Given the description of an element on the screen output the (x, y) to click on. 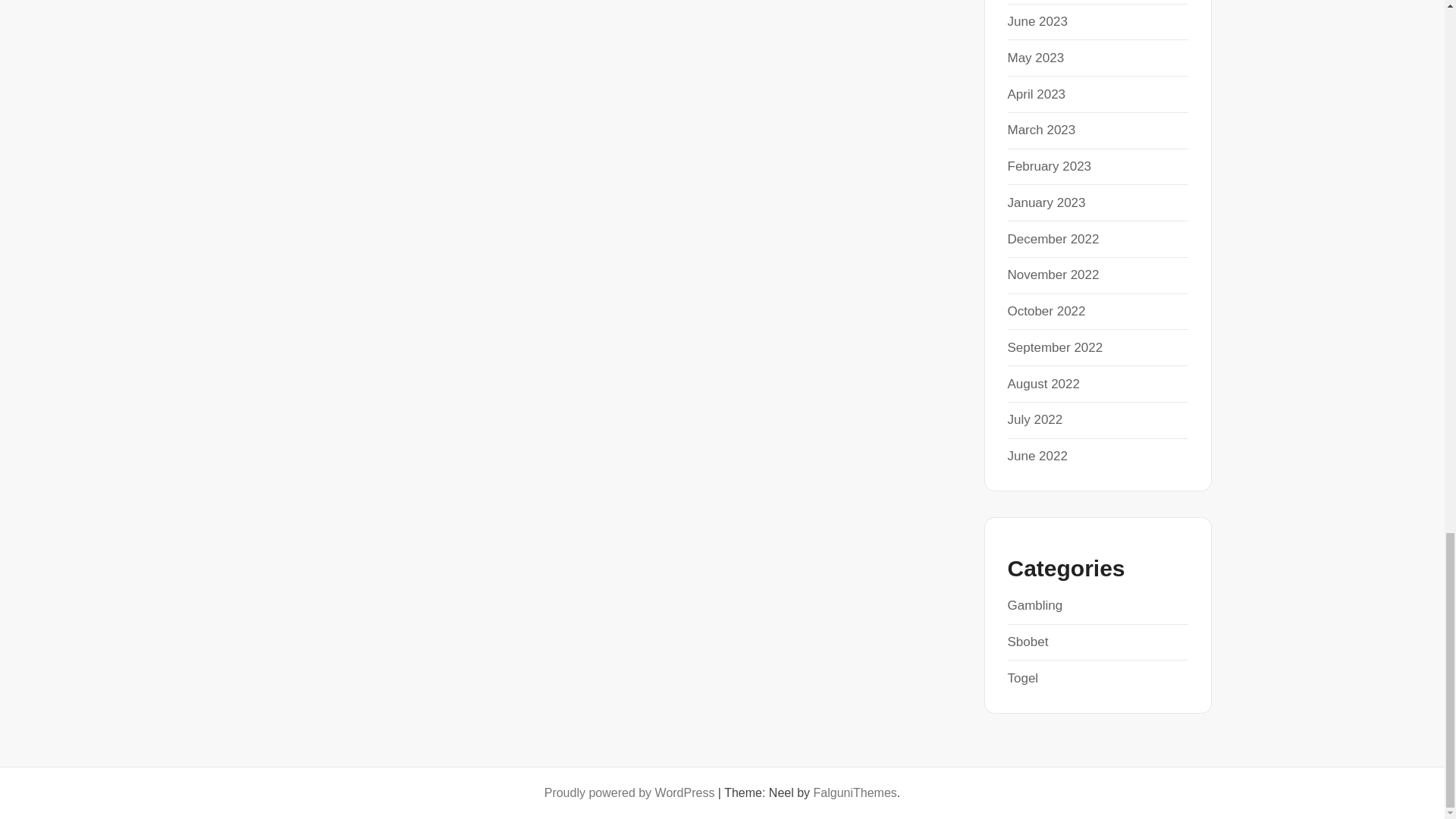
March 2023 (1041, 129)
April 2023 (1036, 93)
June 2023 (1037, 21)
May 2023 (1035, 57)
